Given the description of an element on the screen output the (x, y) to click on. 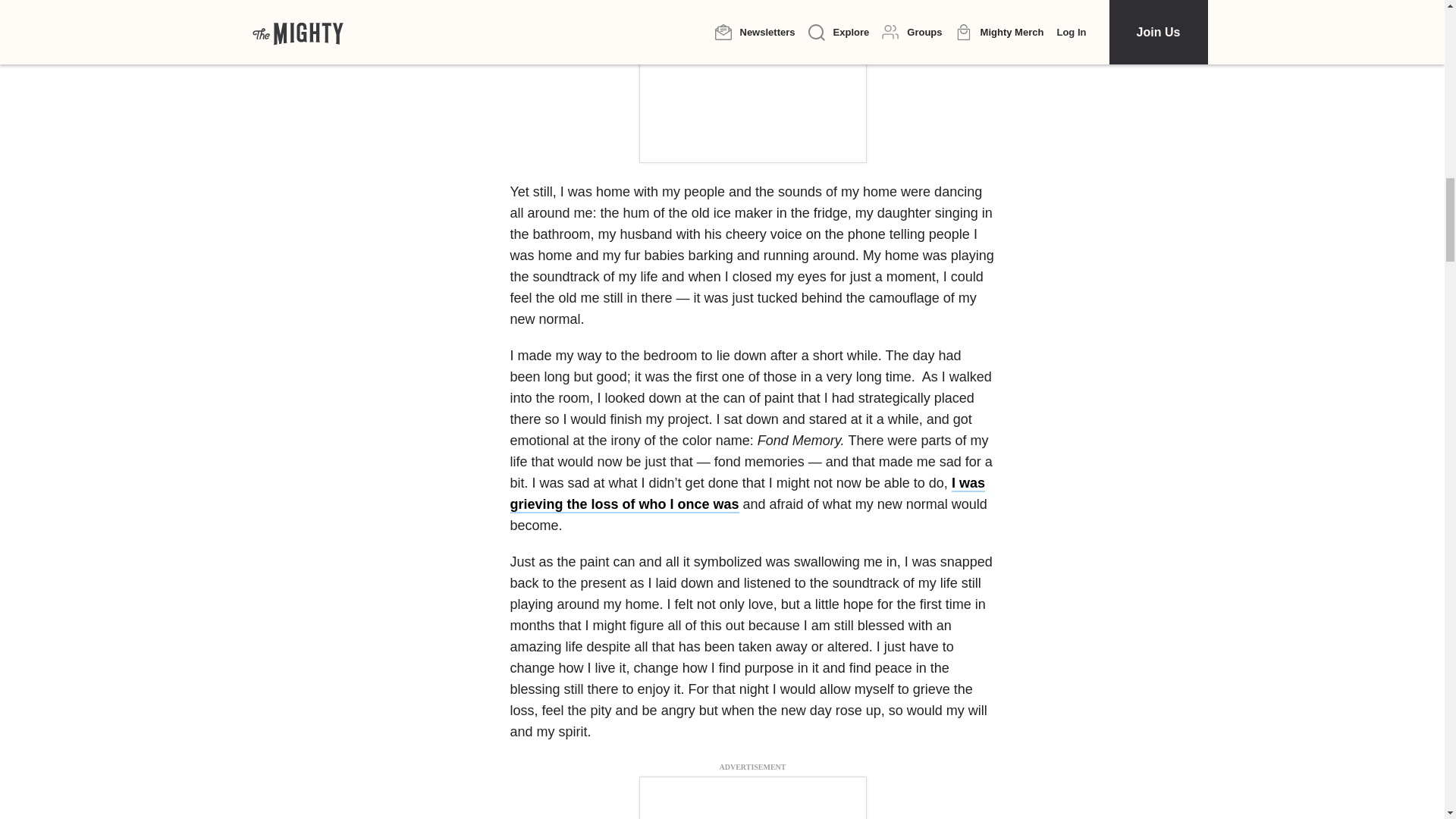
I was grieving the loss of who I once was (746, 494)
